Given the description of an element on the screen output the (x, y) to click on. 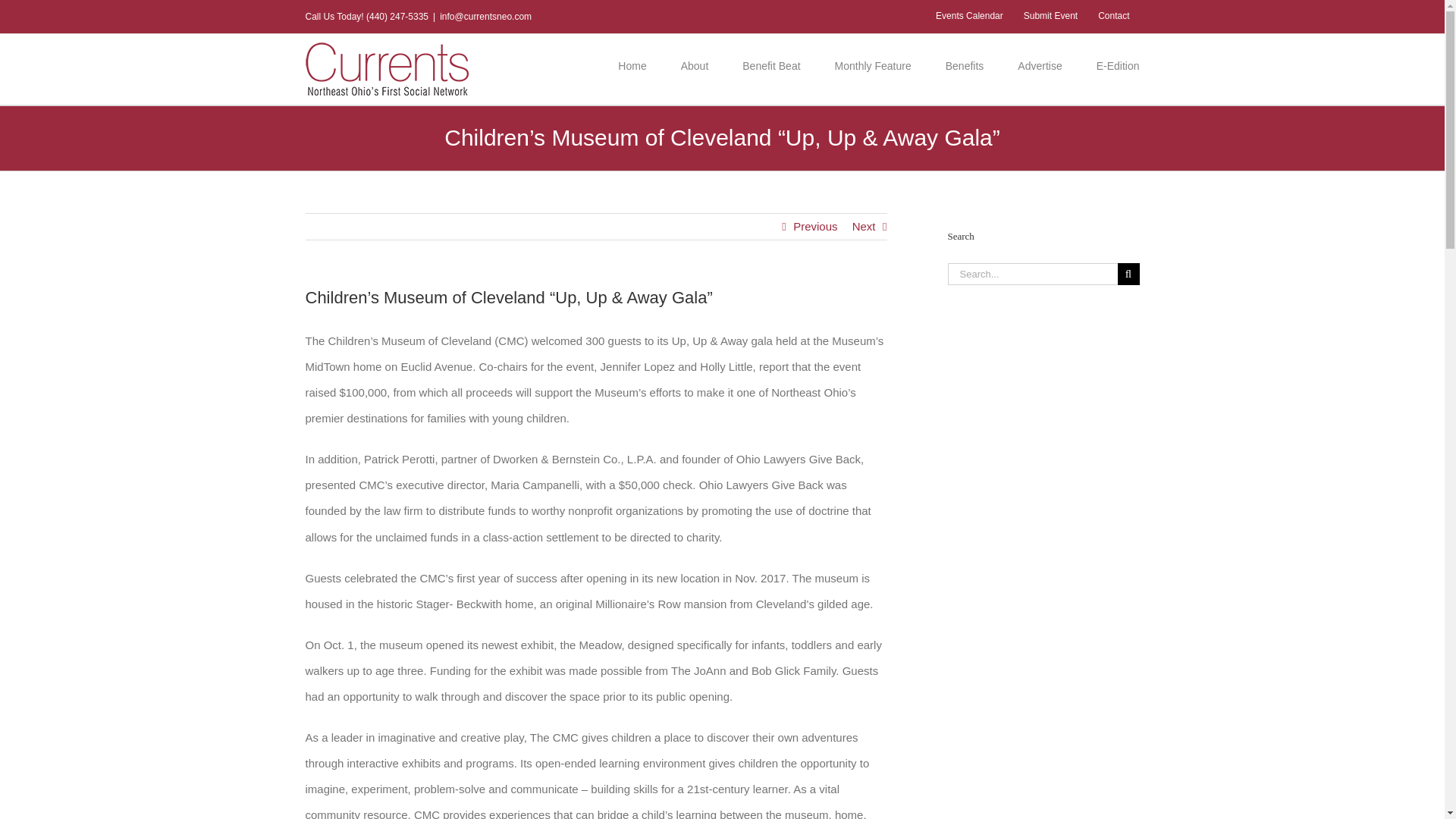
Next (863, 226)
Monthly Feature (872, 65)
Contact (1112, 16)
Submit Event (1050, 16)
Previous (815, 226)
Events Calendar (969, 16)
Benefit Beat (770, 65)
